Given the description of an element on the screen output the (x, y) to click on. 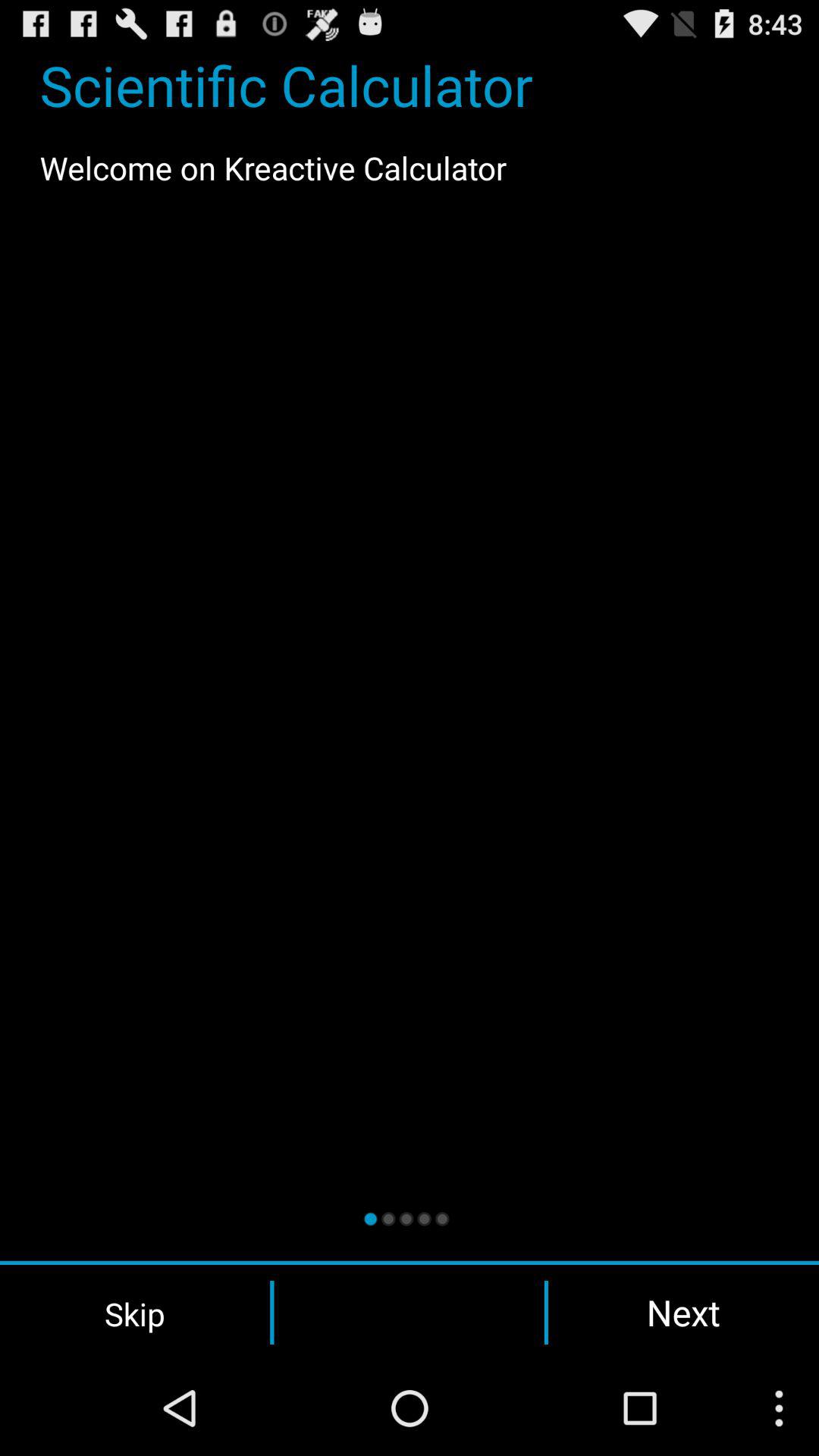
jump to next icon (683, 1312)
